Given the description of an element on the screen output the (x, y) to click on. 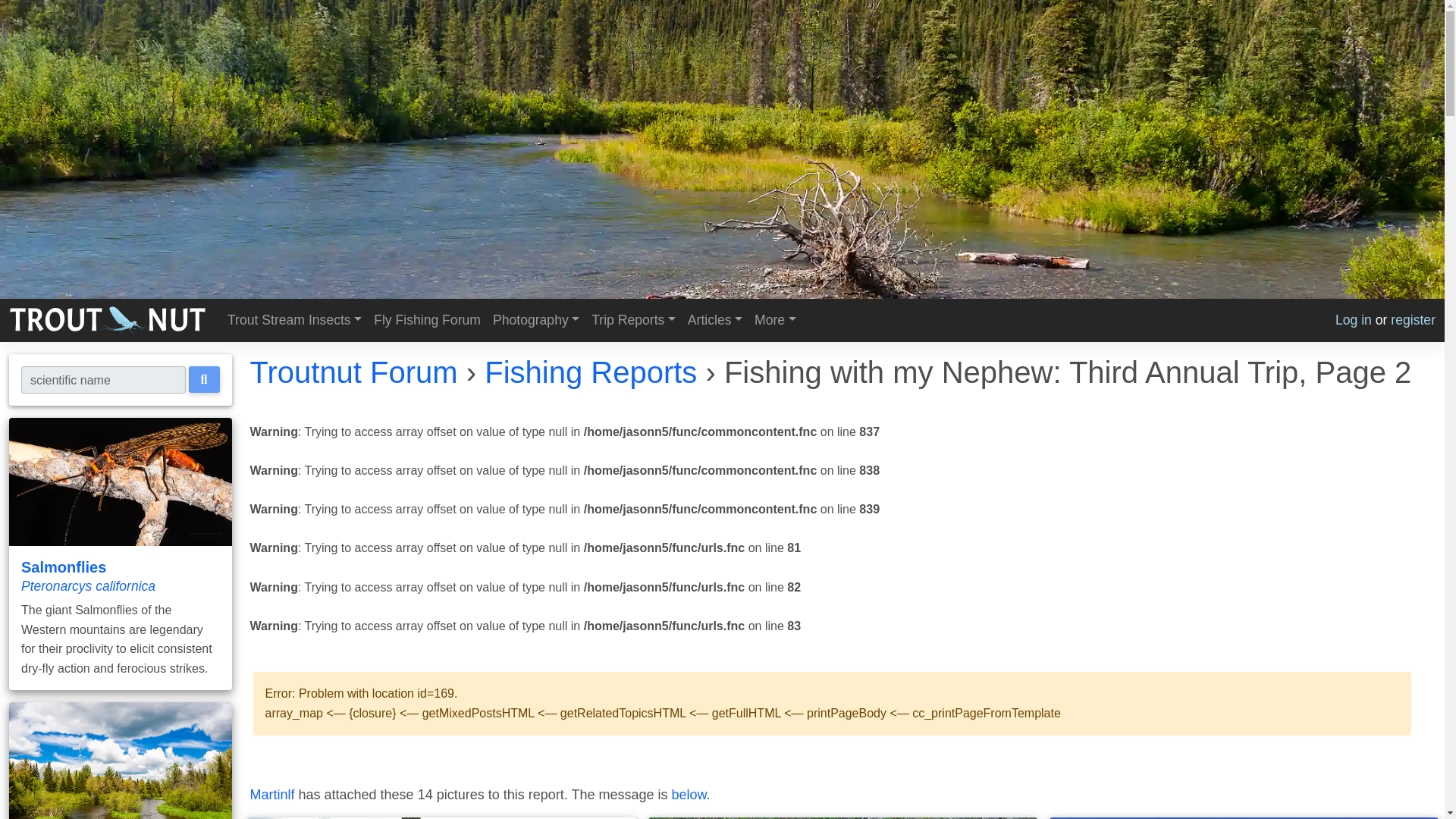
Troutnut.com Home (107, 319)
Trout Stream Insects (294, 320)
